Given the description of an element on the screen output the (x, y) to click on. 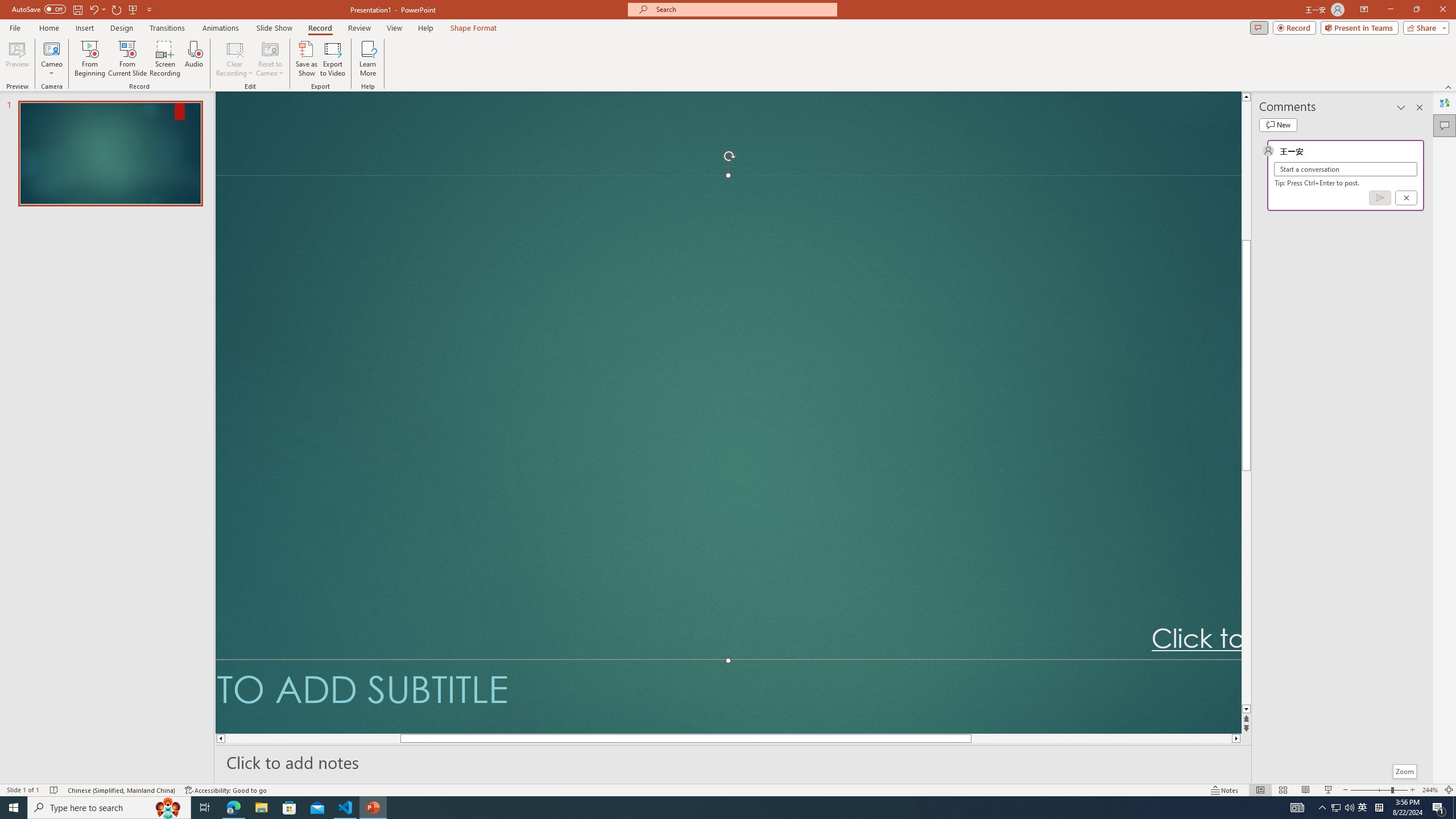
Zoom 244% (1430, 790)
Title TextBox (728, 418)
Save as Show (306, 58)
Slide Notes (733, 761)
